Given the description of an element on the screen output the (x, y) to click on. 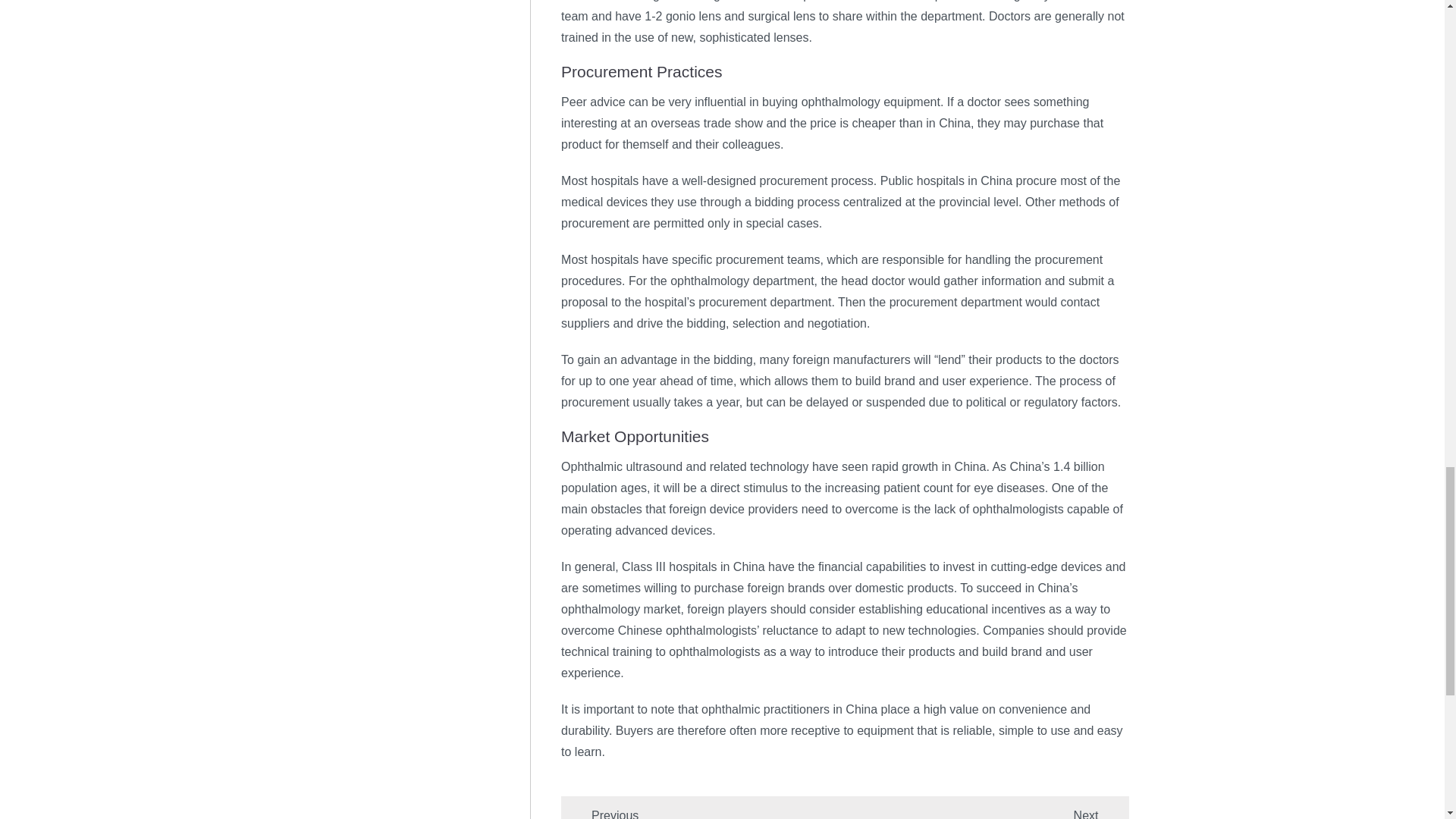
Previous (599, 814)
Next (1101, 814)
